Given the description of an element on the screen output the (x, y) to click on. 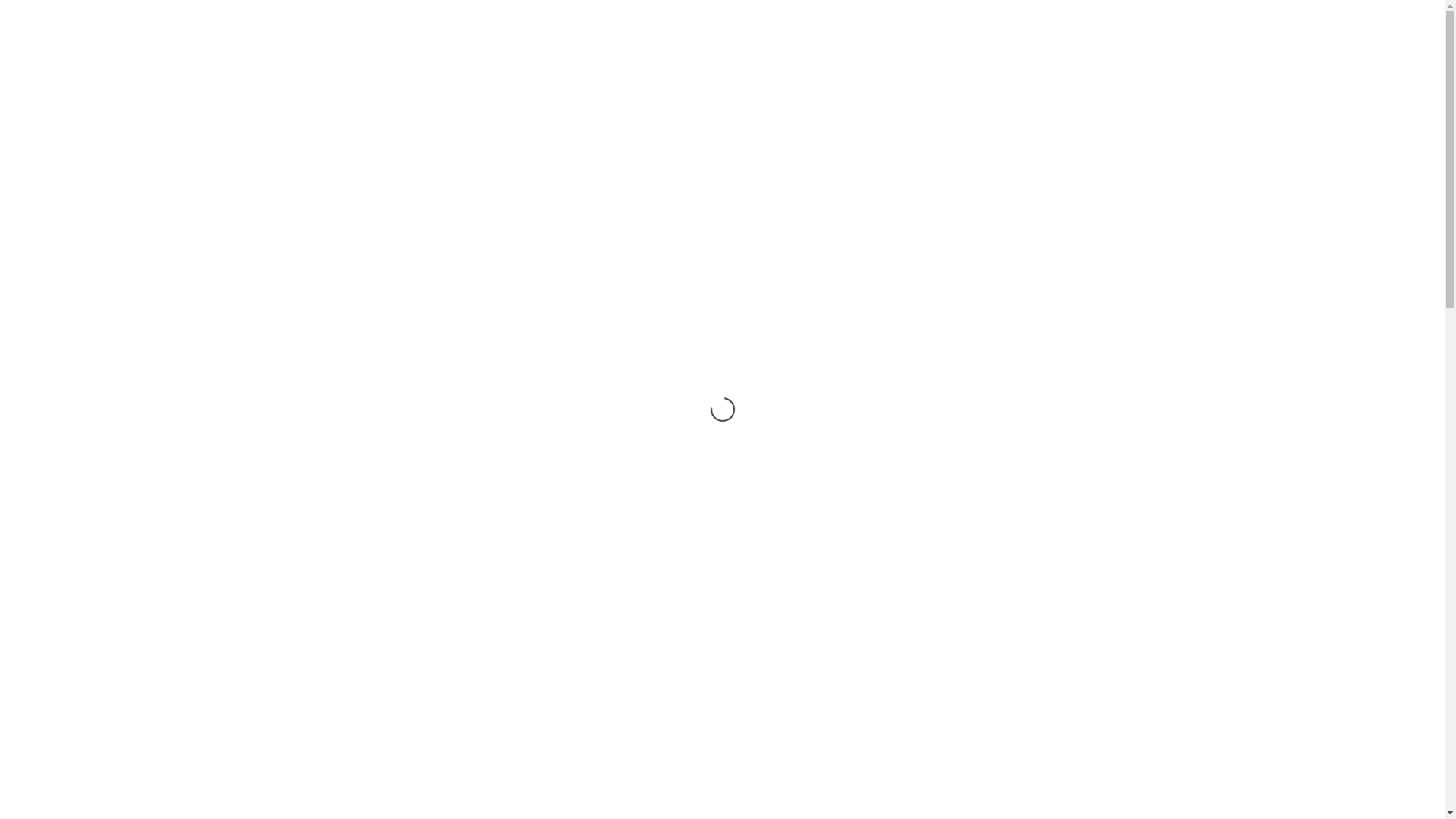
ABOUT US Element type: text (563, 75)
COMMUNITIES OF PRACTICE Element type: text (790, 75)
BENEFITS Element type: text (653, 75)
BLOG Element type: text (1057, 75)
SPACES Element type: text (985, 75)
JOIN Element type: text (914, 75)
